Given the description of an element on the screen output the (x, y) to click on. 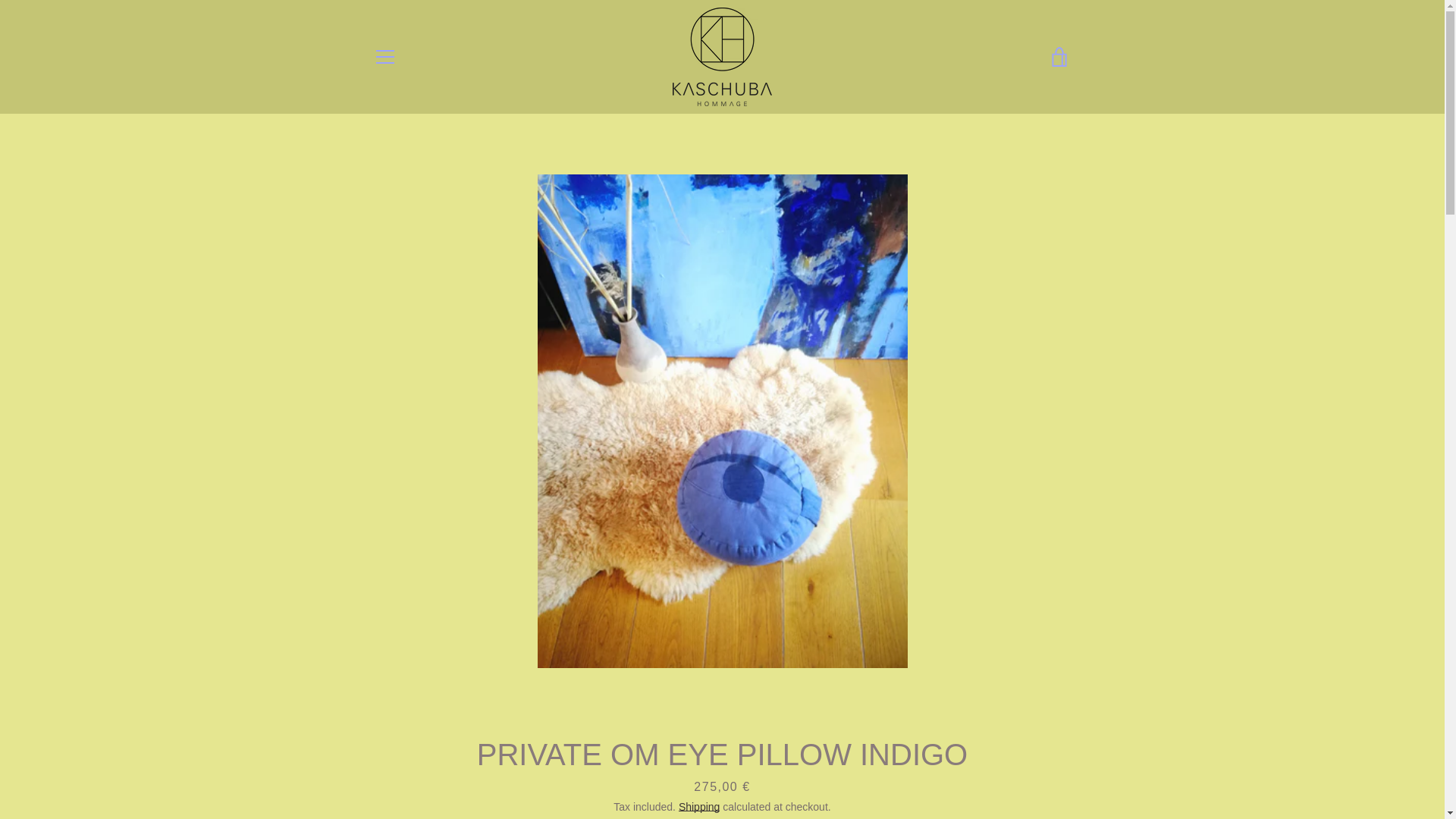
Shipping (699, 806)
MENU (384, 56)
VIEW CART (1059, 56)
